Given the description of an element on the screen output the (x, y) to click on. 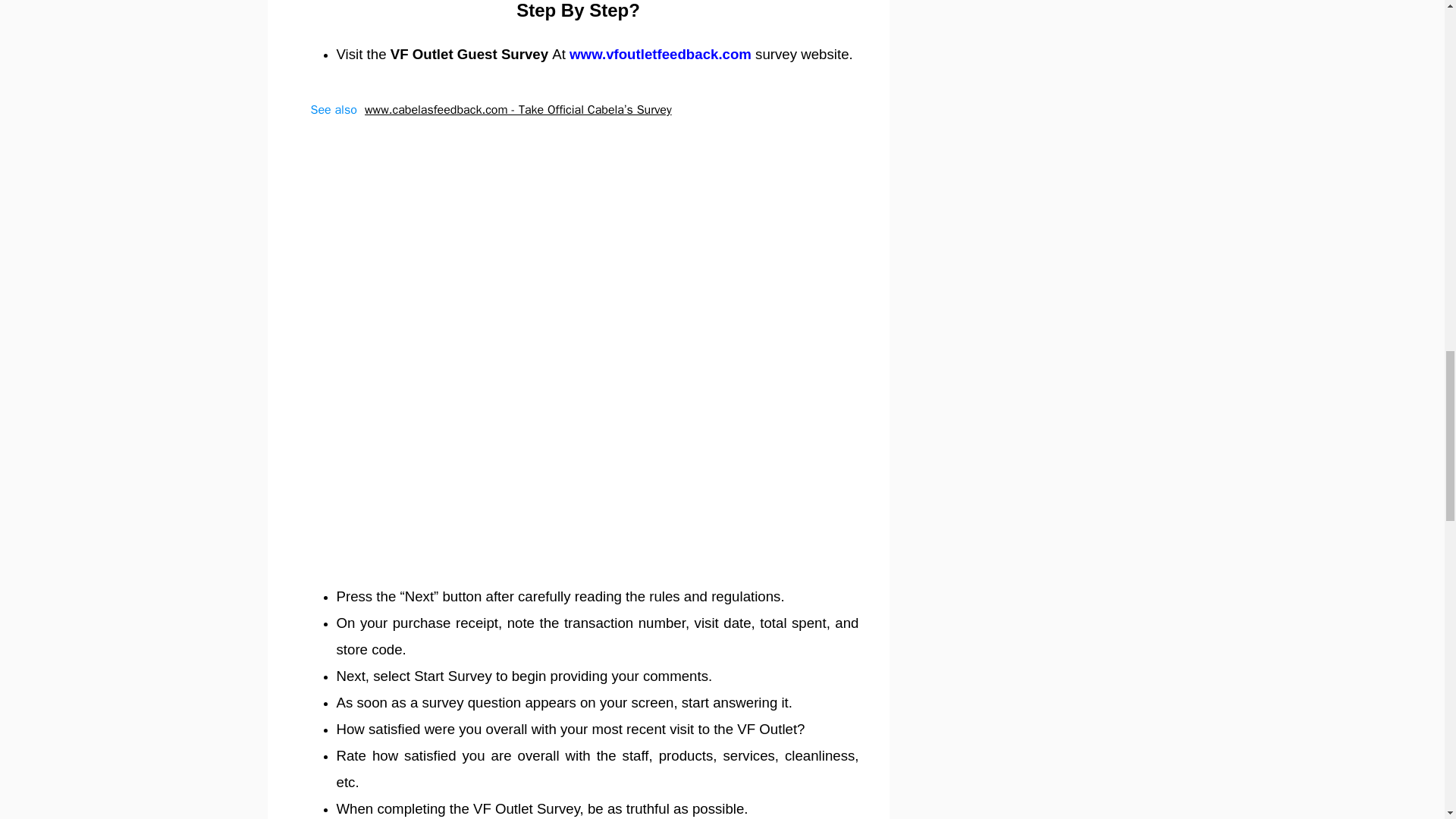
www.vfoutletfeedback.com (660, 53)
